Given the description of an element on the screen output the (x, y) to click on. 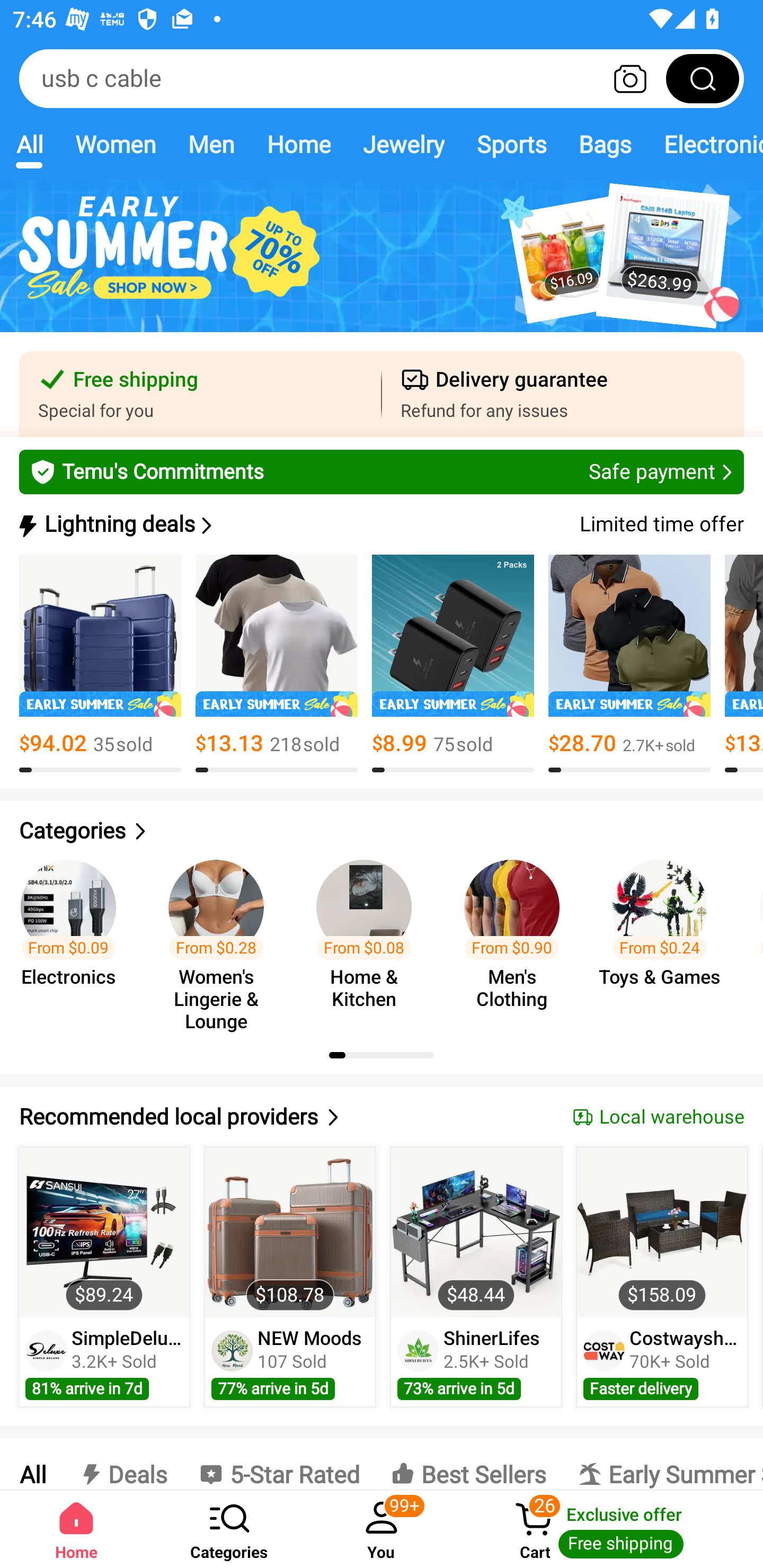
usb c cable (381, 78)
All (29, 144)
Women (115, 144)
Men (211, 144)
Home (298, 144)
Jewelry (403, 144)
Sports (511, 144)
Bags (605, 144)
Electronics (705, 144)
$16.09 $263.99 (381, 265)
Free shipping Special for you (200, 394)
Delivery guarantee Refund for any issues (562, 394)
Temu's Commitments (381, 471)
Lightning deals Lightning deals Limited time offer (379, 524)
$94.02 35￼sold 8.0 (100, 664)
$13.13 218￼sold 8.0 (276, 664)
$8.99 75￼sold 8.0 (453, 664)
$28.70 2.7K+￼sold 8.0 (629, 664)
Categories (381, 830)
From $0.09 Electronics (74, 936)
From $0.28 Women's Lingerie & Lounge (222, 936)
From $0.08 Home & Kitchen (369, 936)
From $0.90 Men's Clothing (517, 936)
From $0.24 Toys & Games (665, 936)
$108.78 NEW Moods 107 Sold 77% arrive in 5d (289, 1276)
$48.44 ShinerLifes 2.5K+ Sold 73% arrive in 5d (475, 1276)
$158.09 Costwayshop 70K+ Sold Faster delivery (661, 1276)
$89.24 (104, 1232)
$108.78 (290, 1232)
$48.44 (475, 1232)
$158.09 (661, 1232)
All (32, 1463)
Deals Deals Deals (122, 1463)
5-Star Rated 5-Star Rated 5-Star Rated (279, 1463)
Best Sellers Best Sellers Best Sellers (468, 1463)
Home (76, 1528)
Categories (228, 1528)
You ‎99+‎ You (381, 1528)
Cart 26 Cart Exclusive offer (610, 1528)
